Given the description of an element on the screen output the (x, y) to click on. 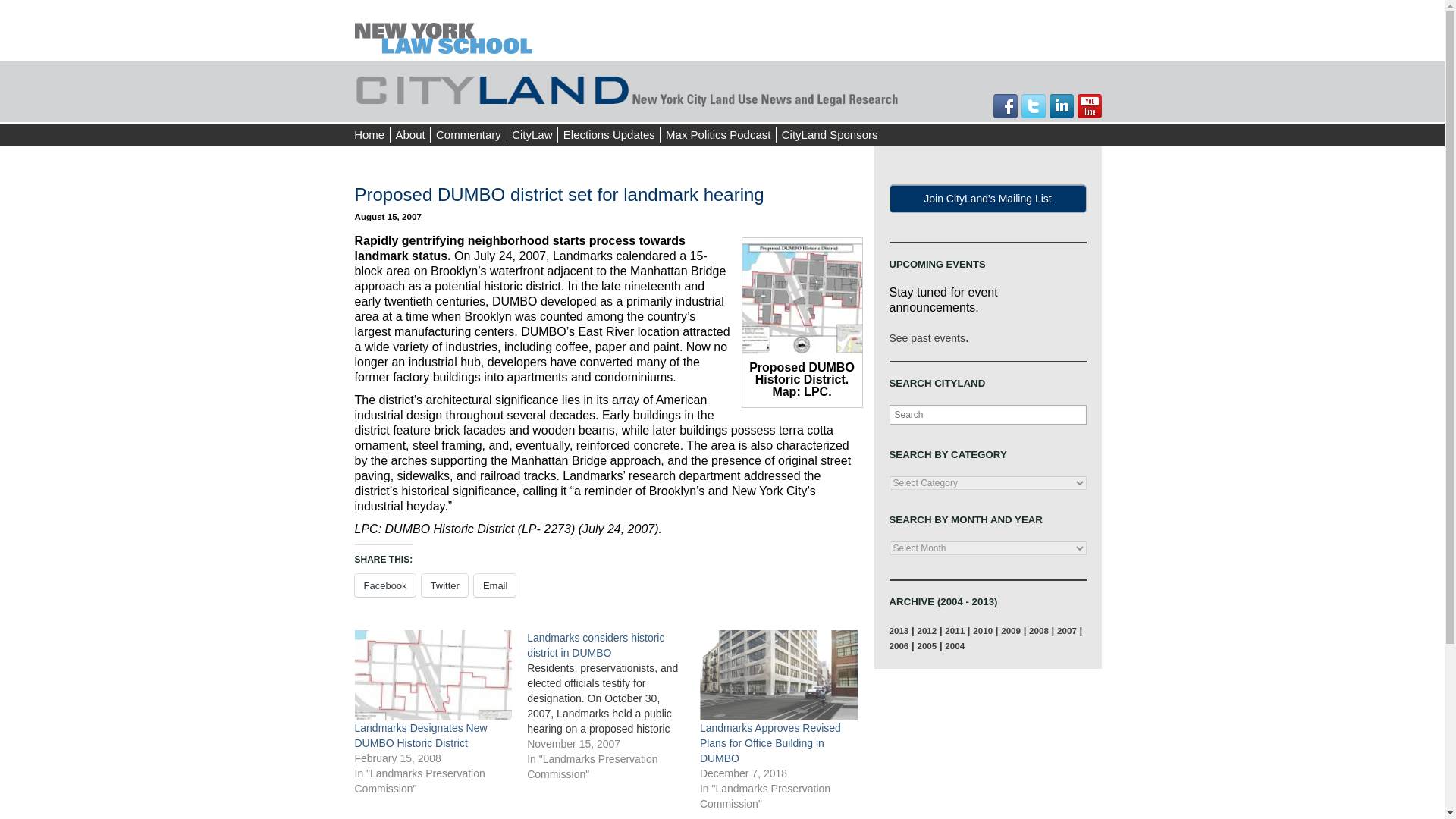
Click to share on Facebook (384, 585)
Landmarks Designates New DUMBO Historic District (421, 735)
Facebook (1004, 105)
CityLaw (531, 134)
2012 (926, 630)
CityLand Sponsors (829, 134)
LinkedIn (1061, 105)
2009 (1010, 630)
Elections Updates (608, 134)
See past events (925, 337)
Home (368, 134)
Landmarks considers historic district in DUMBO (595, 645)
Landmarks considers historic district in DUMBO (595, 645)
2011 (953, 630)
Commentary (467, 134)
